Given the description of an element on the screen output the (x, y) to click on. 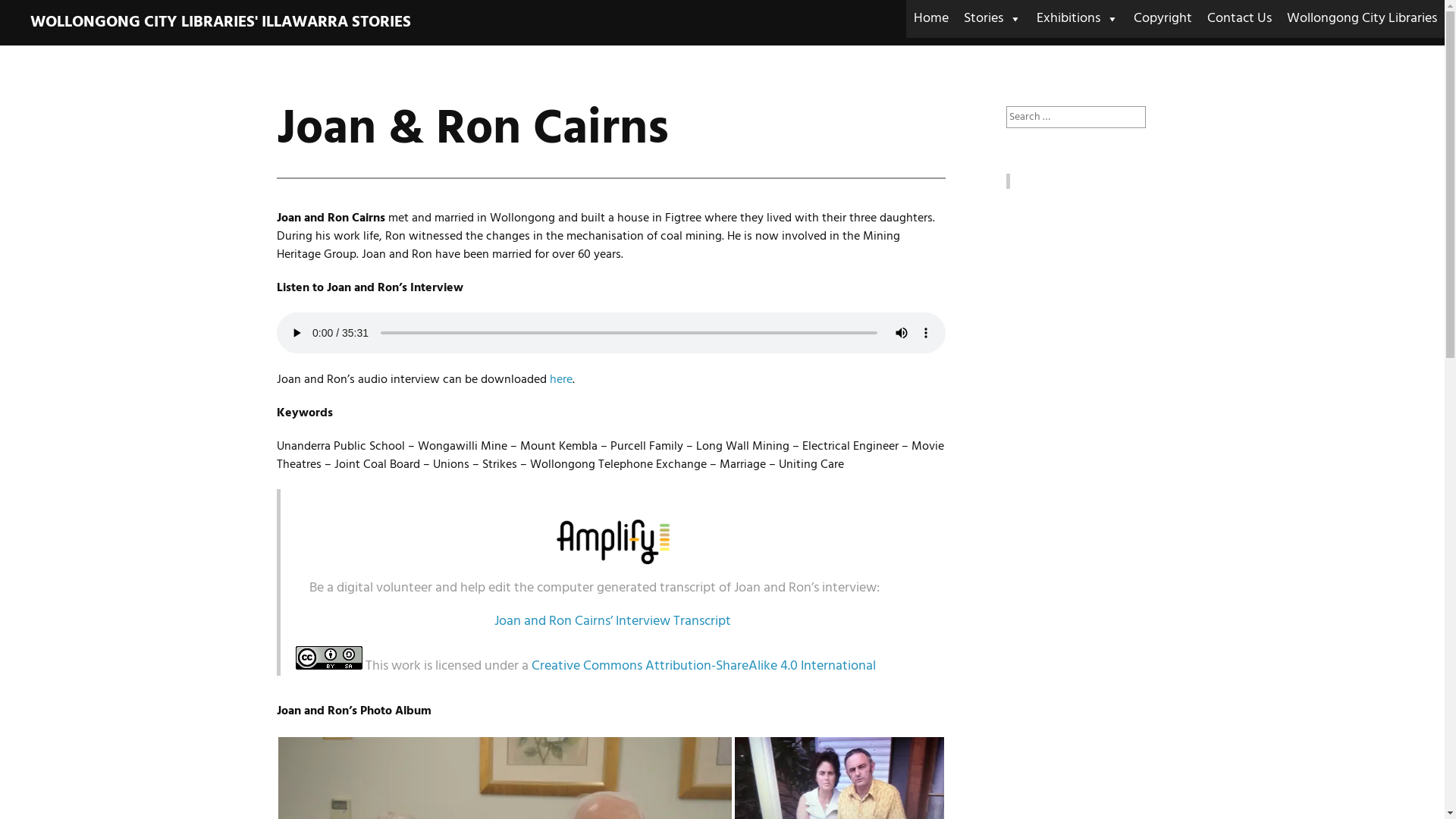
here Element type: text (560, 379)
Wollongong City Libraries Element type: text (1361, 18)
Stories Element type: text (992, 18)
Creative Commons Attribution-ShareAlike 4.0 International Element type: text (702, 666)
WOLLONGONG CITY LIBRARIES' ILLAWARRA STORIES Element type: text (220, 22)
Home Element type: text (931, 18)
Exhibitions Element type: text (1077, 18)
Contact Us Element type: text (1239, 18)
Search Element type: text (24, 13)
Copyright Element type: text (1162, 18)
